Given the description of an element on the screen output the (x, y) to click on. 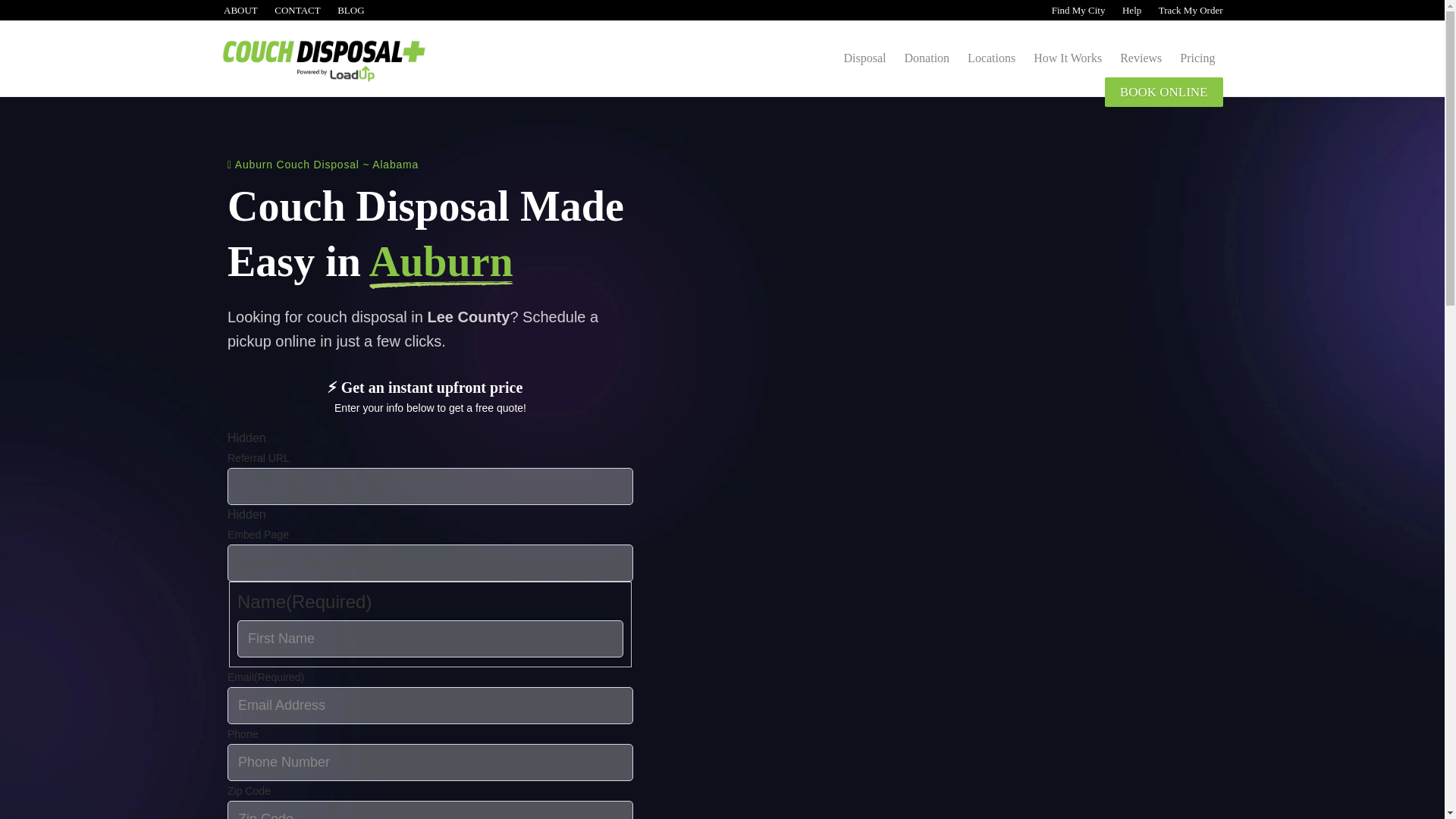
Auburn Couch Disposal (430, 562)
Reviews (1140, 57)
BLOG (350, 10)
CONTACT (296, 10)
ABOUT (239, 10)
Find My City (1077, 10)
Locations (991, 57)
Donation (927, 57)
Pricing (1197, 57)
BOOK ONLINE (1164, 91)
